Given the description of an element on the screen output the (x, y) to click on. 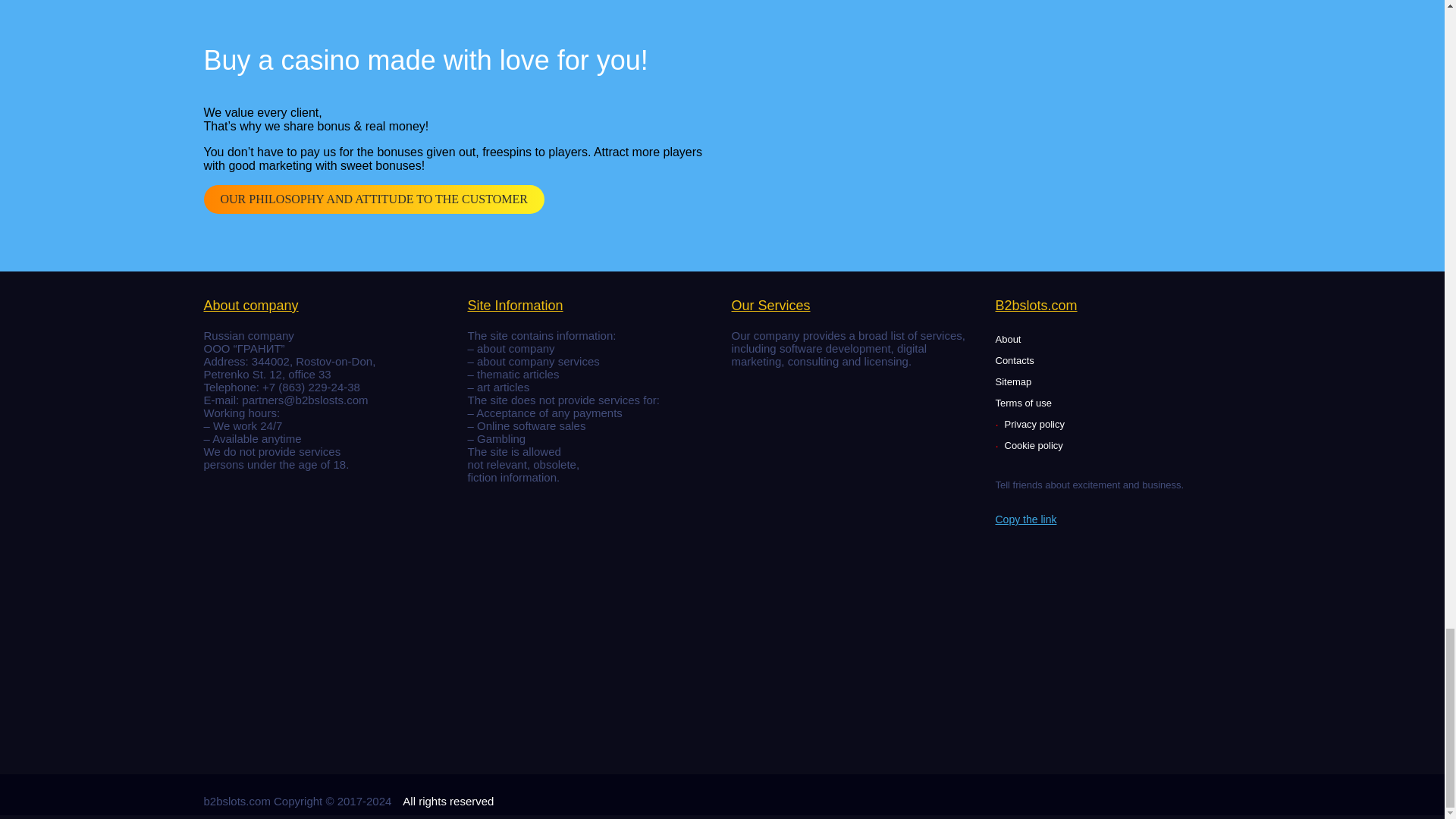
DMCA Compliance information for b2bslots.com (316, 744)
LiveInternet (763, 379)
DMCA.com Protection Status (316, 615)
